Given the description of an element on the screen output the (x, y) to click on. 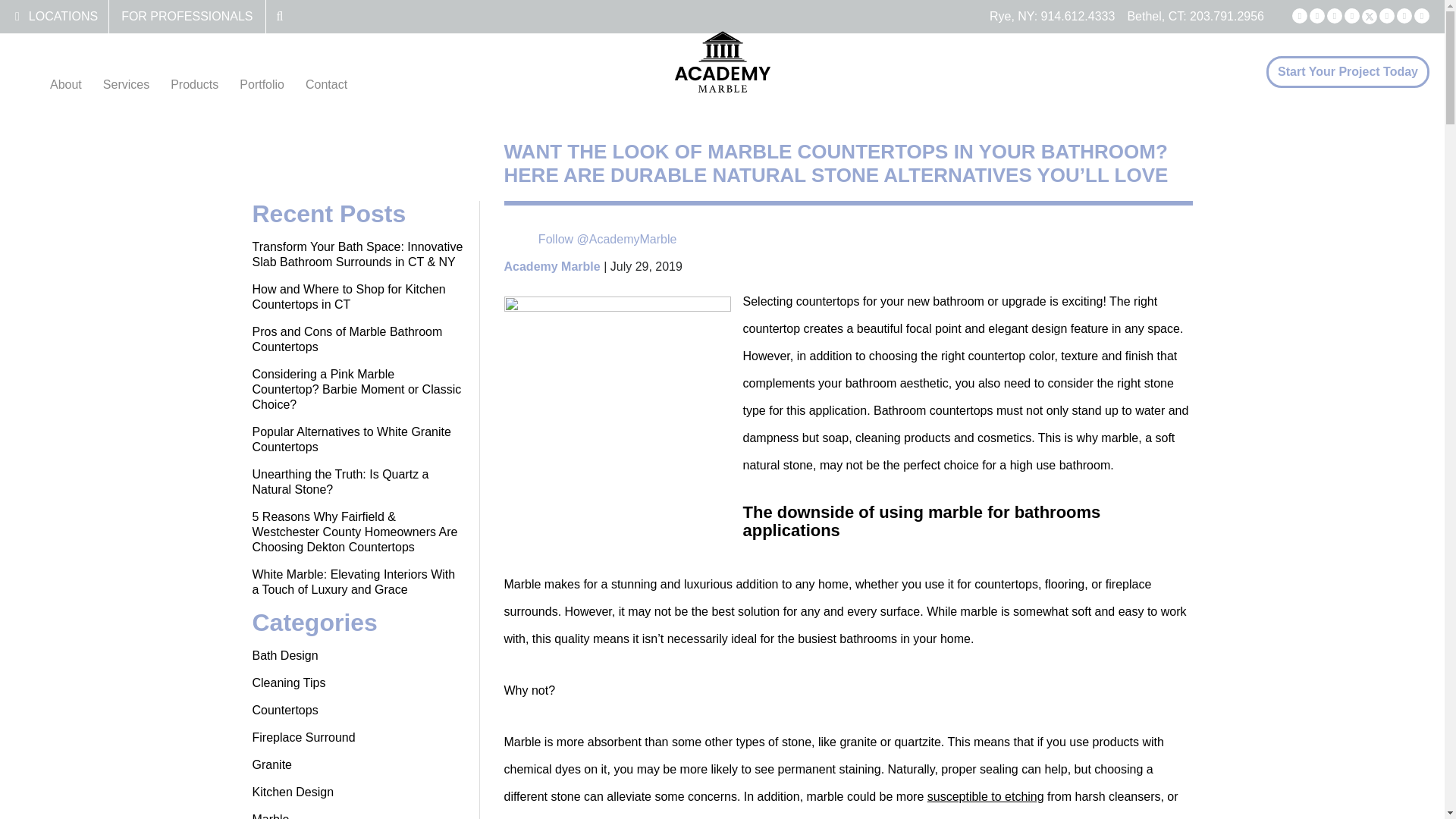
203.791.2956 (1226, 15)
914.612.4333 (1078, 15)
LOCATIONS (63, 15)
FOR PROFESSIONALS (185, 15)
